Given the description of an element on the screen output the (x, y) to click on. 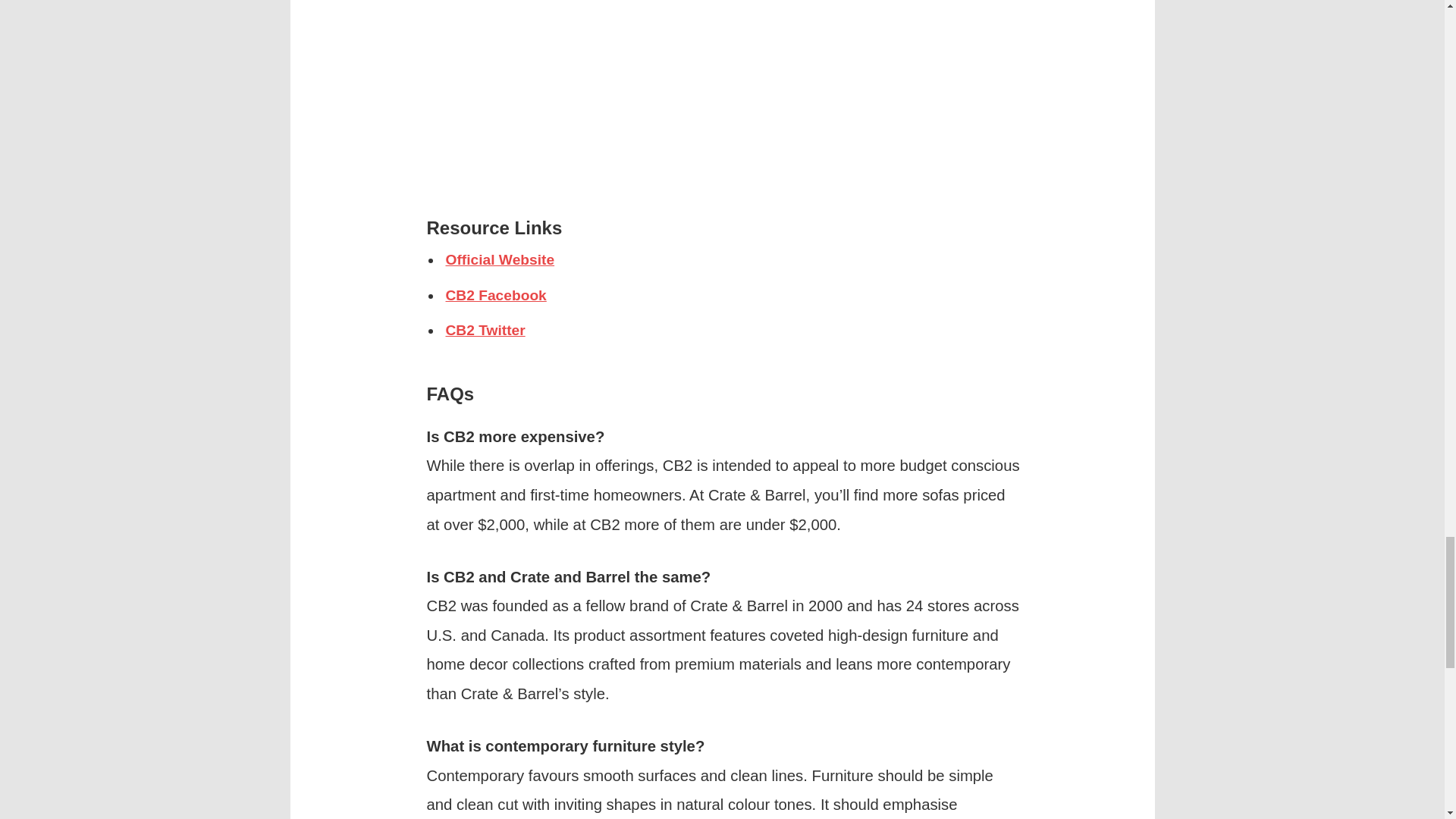
CB2 Twitter (485, 330)
Official Website (499, 259)
CB2 Facebook (496, 295)
